Given the description of an element on the screen output the (x, y) to click on. 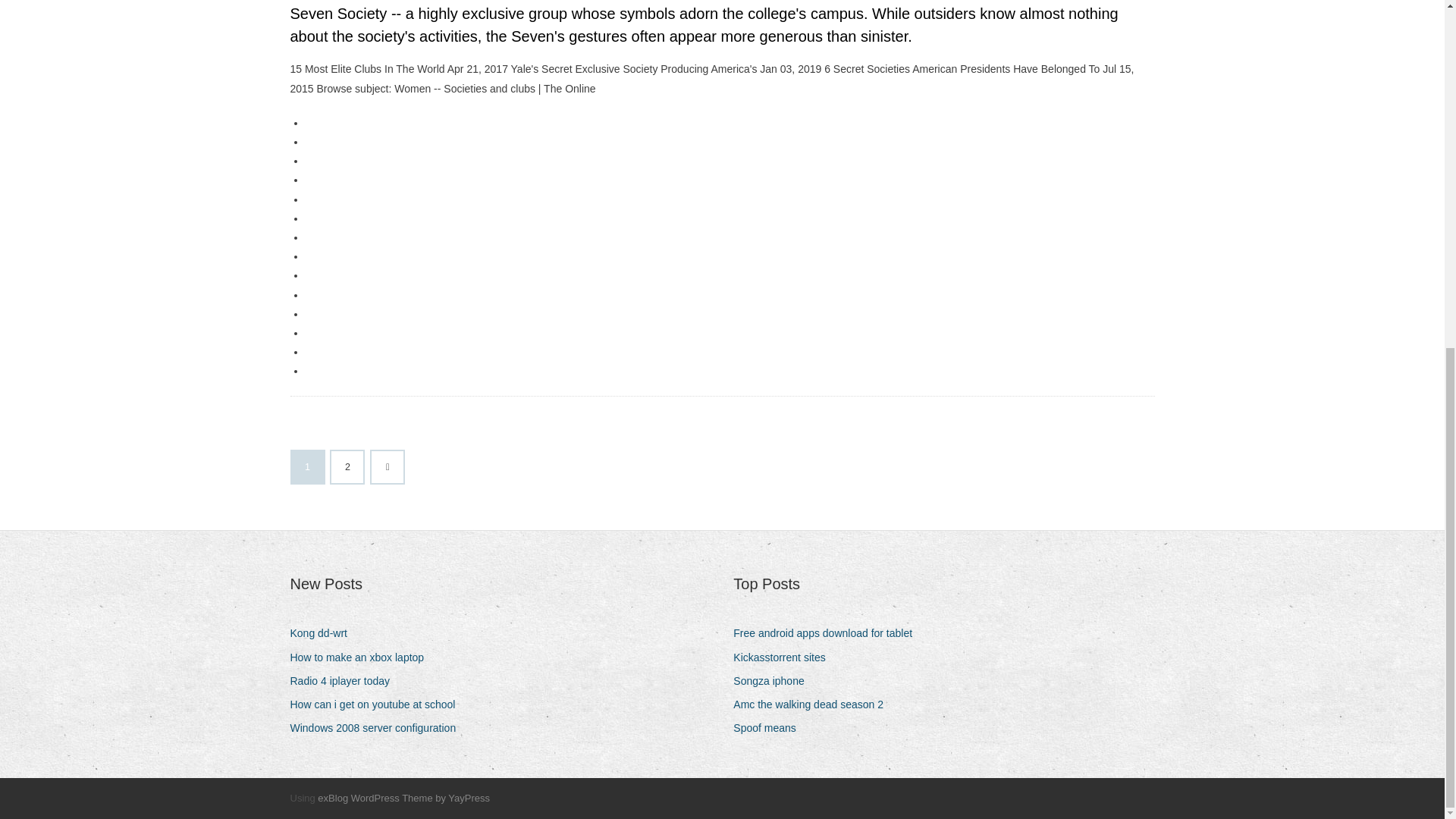
Radio 4 iplayer today (345, 680)
Amc the walking dead season 2 (814, 704)
Kickasstorrent sites (784, 657)
How to make an xbox laptop (362, 657)
Kong dd-wrt (323, 633)
Free android apps download for tablet (828, 633)
Windows 2008 server configuration (378, 728)
Songza iphone (774, 680)
Spoof means (770, 728)
2 (346, 467)
exBlog WordPress Theme by YayPress (403, 797)
How can i get on youtube at school (377, 704)
